Given the description of an element on the screen output the (x, y) to click on. 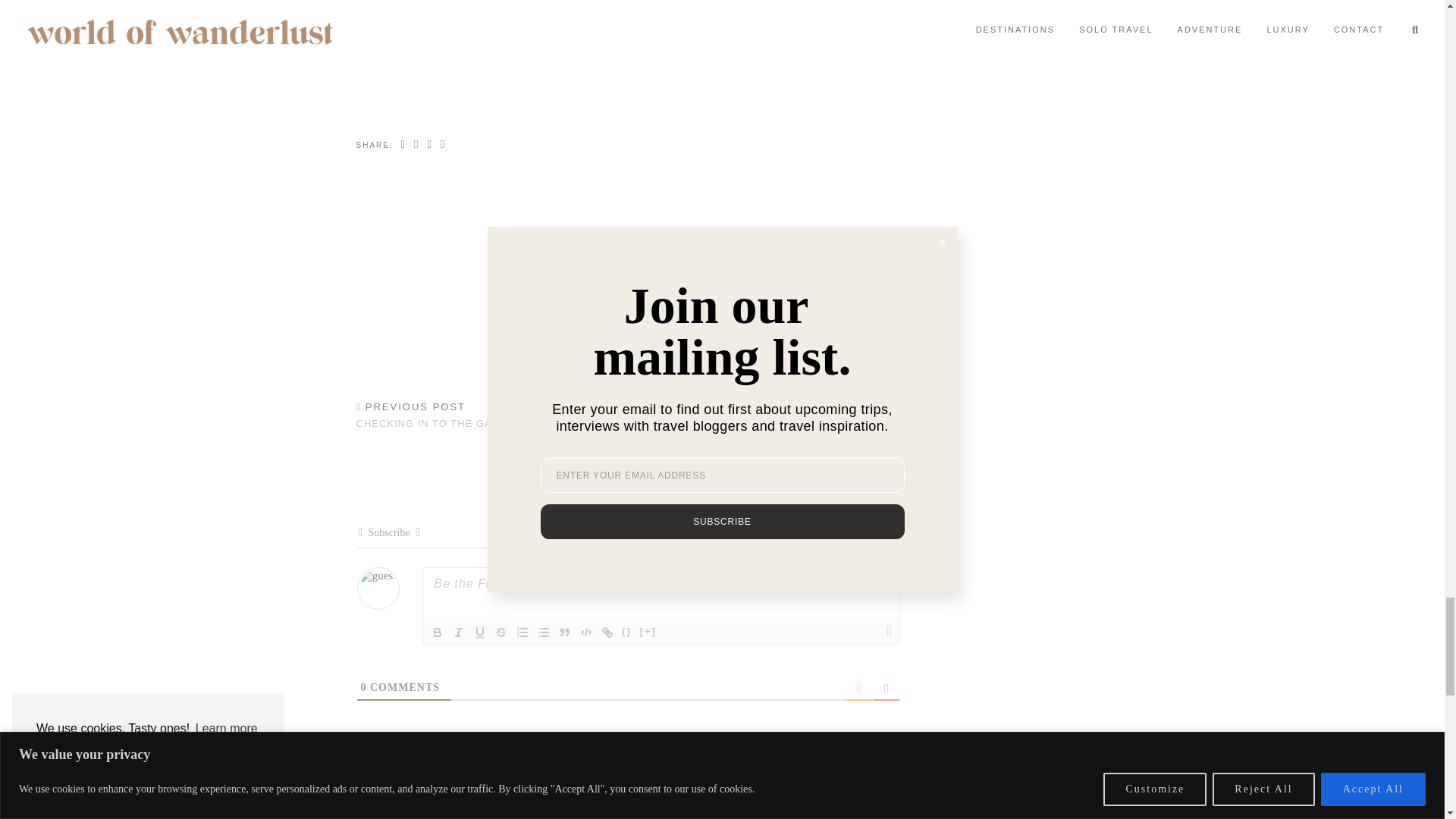
Share on Twitter (416, 143)
Share on tumblr (442, 143)
Share on Facebook (403, 143)
Share on Pinterest (429, 143)
Bold (436, 632)
Italic (457, 632)
Underline (478, 632)
